Given the description of an element on the screen output the (x, y) to click on. 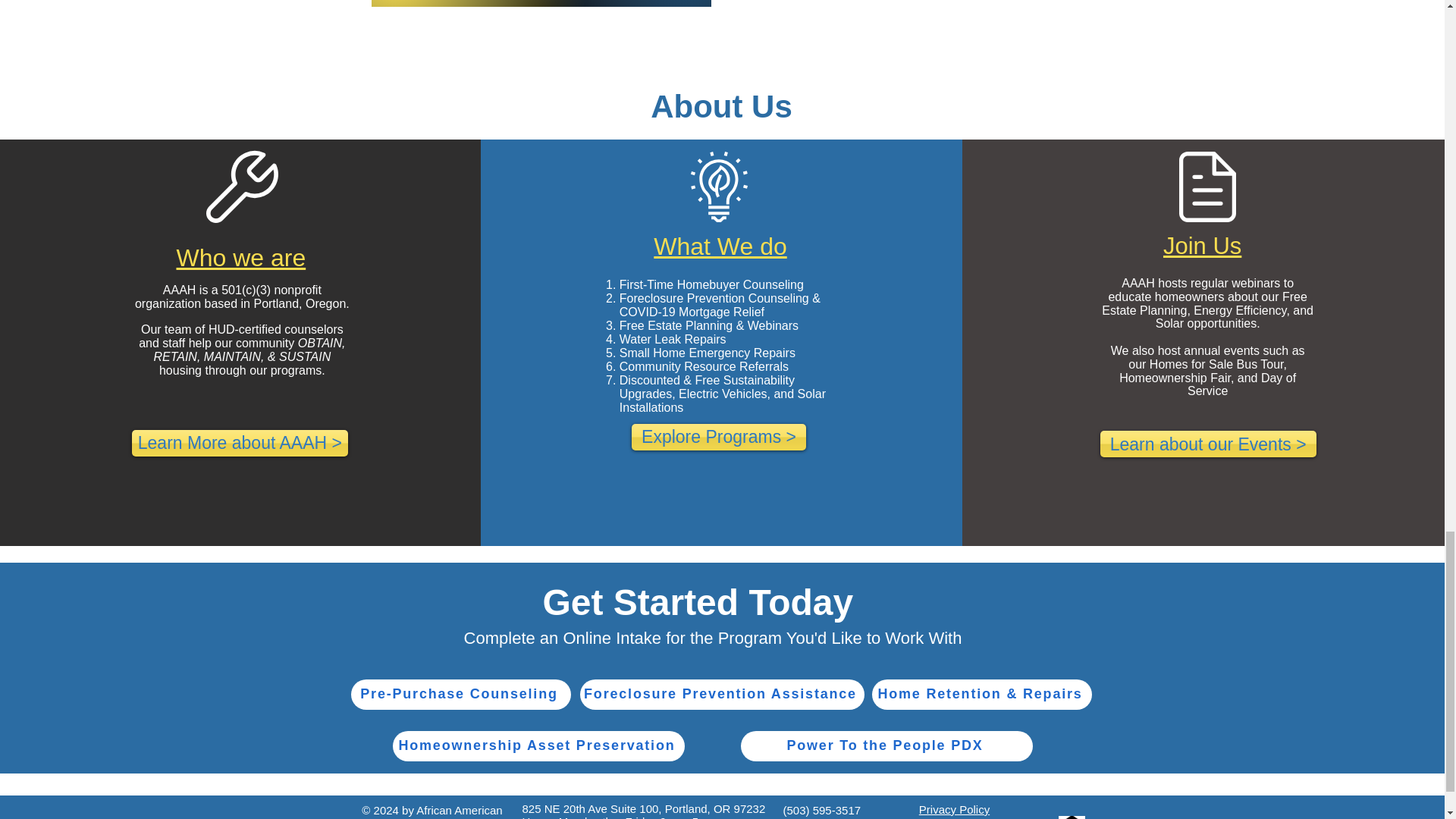
Foreclosure Prevention Assistance (721, 694)
What We do (719, 246)
Who we are (240, 257)
Homeownership Asset Preservation (538, 746)
Pre-Purchase Counseling (460, 694)
Power To the People PDX (885, 746)
